Given the description of an element on the screen output the (x, y) to click on. 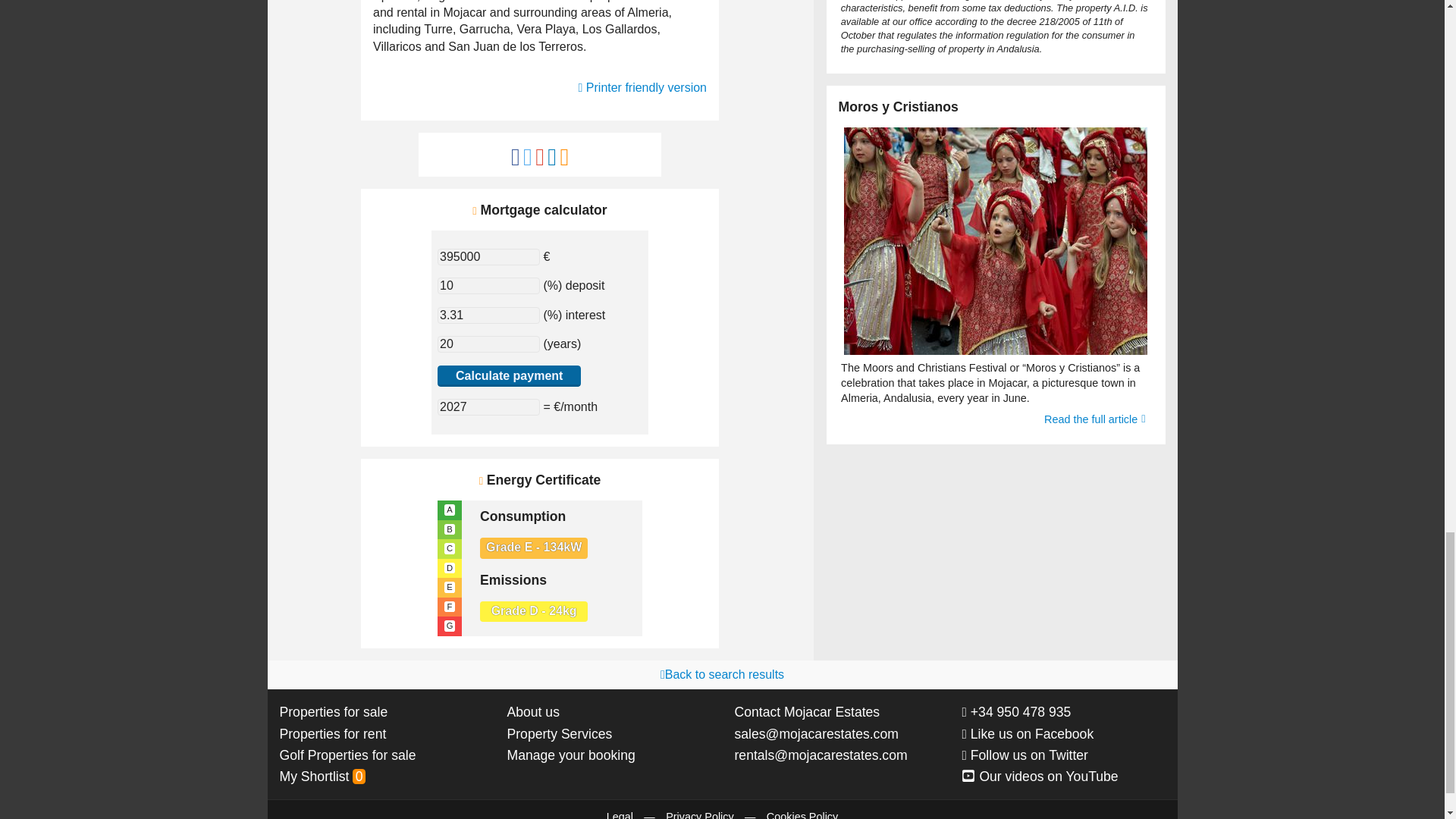
2027 (489, 406)
Properties for rent (332, 734)
Manage your booking (570, 754)
Calculate payment (509, 376)
Back to search results (722, 674)
About us (532, 711)
My Shortlist 0 (322, 776)
Golf Properties for sale (346, 754)
395000 (489, 256)
Contact Mojacar Estates (806, 711)
10 (489, 285)
20 (489, 343)
Read the full article (1093, 418)
Property Services (558, 734)
3.31 (489, 315)
